Given the description of an element on the screen output the (x, y) to click on. 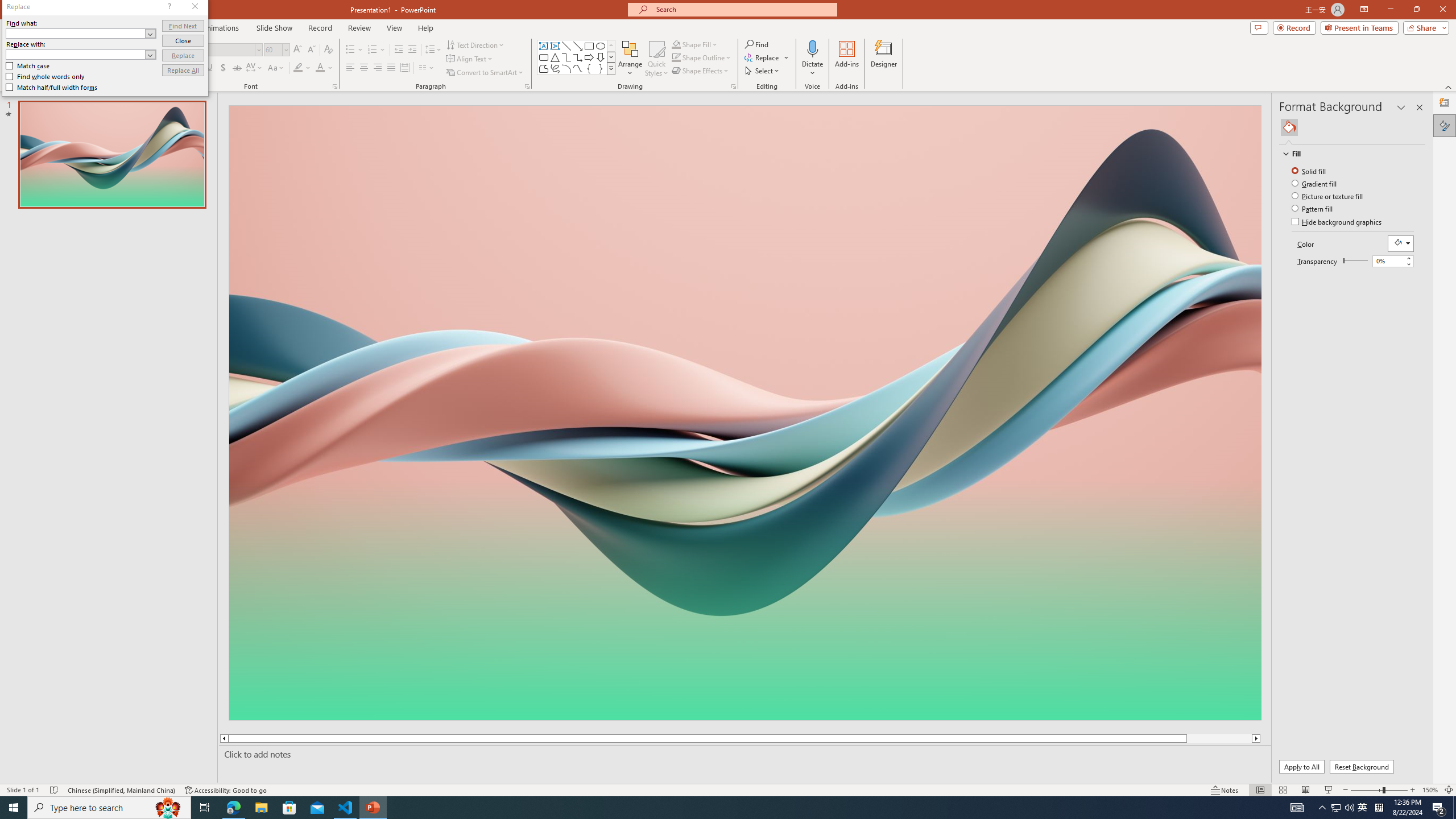
Accessibility Checker Accessibility: Good to go (226, 790)
Fill Color RGB(255, 255, 255) (1400, 243)
Gradient fill (1315, 183)
Fill (1288, 126)
